Given the description of an element on the screen output the (x, y) to click on. 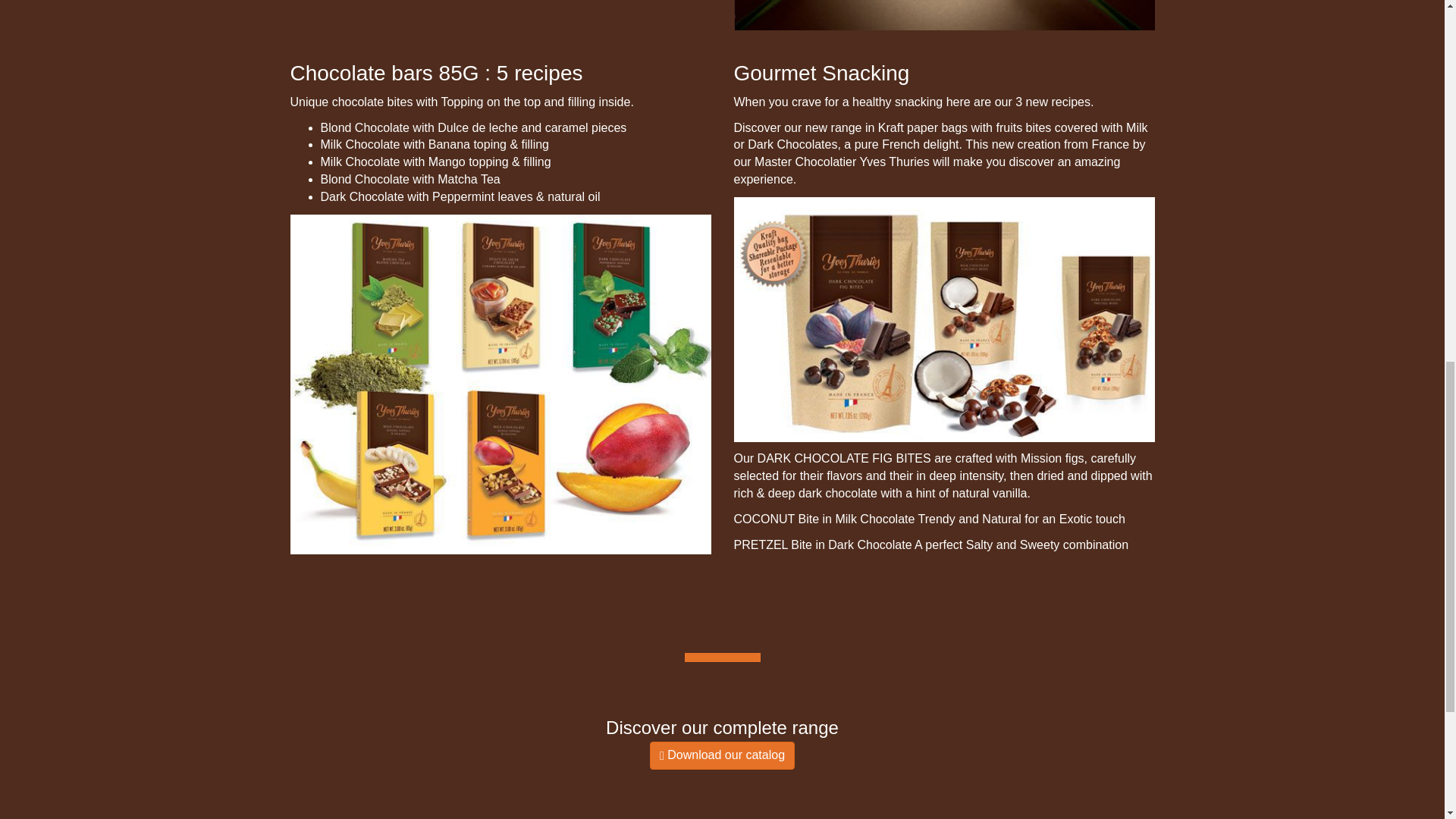
Download our catalog (721, 755)
